Given the description of an element on the screen output the (x, y) to click on. 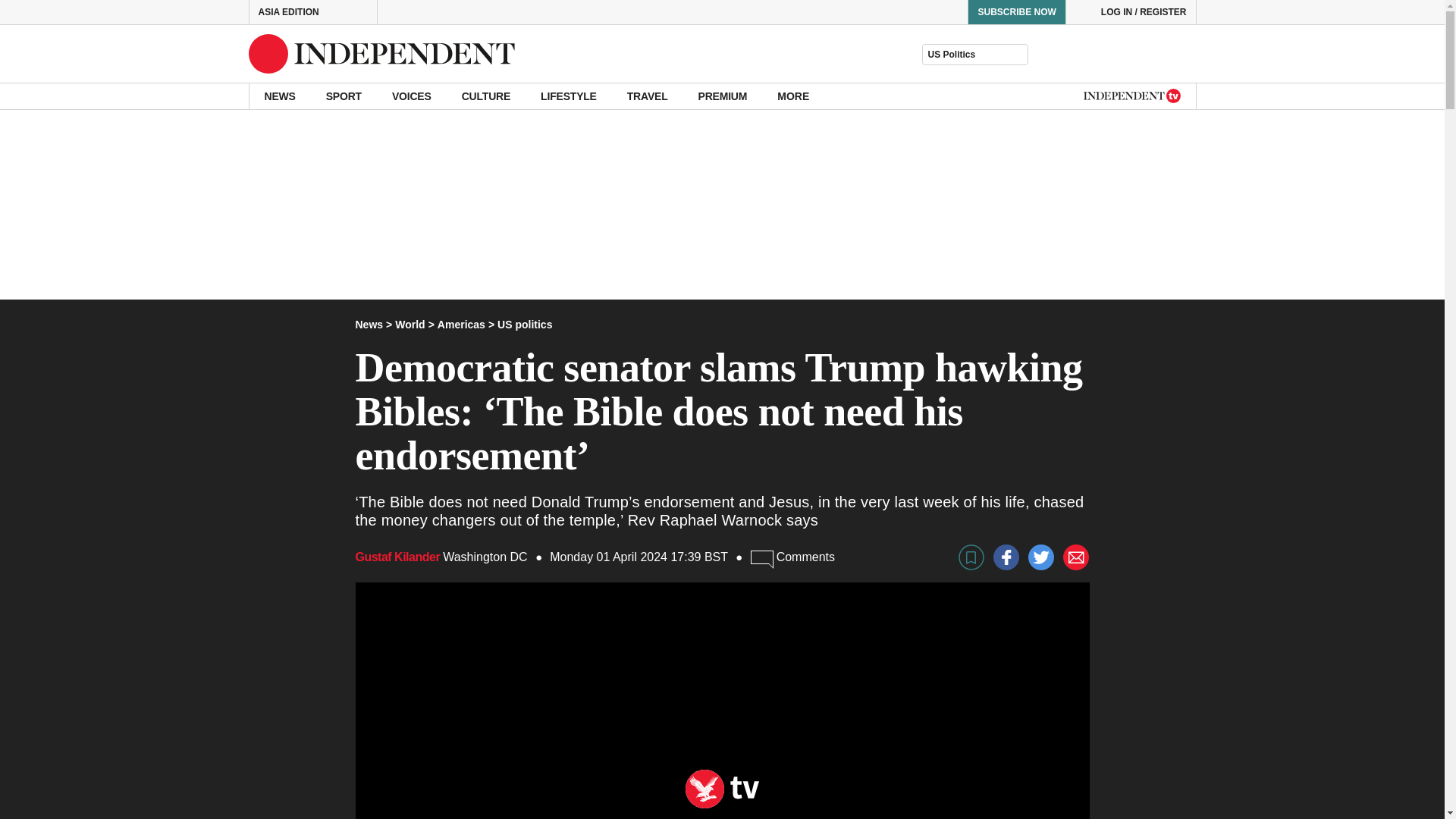
bookmark (971, 557)
US Politics (974, 54)
SUBSCRIBE NOW (1016, 12)
VOICES (411, 95)
SPORT (344, 95)
NEWS (279, 95)
Independent (381, 53)
